Given the description of an element on the screen output the (x, y) to click on. 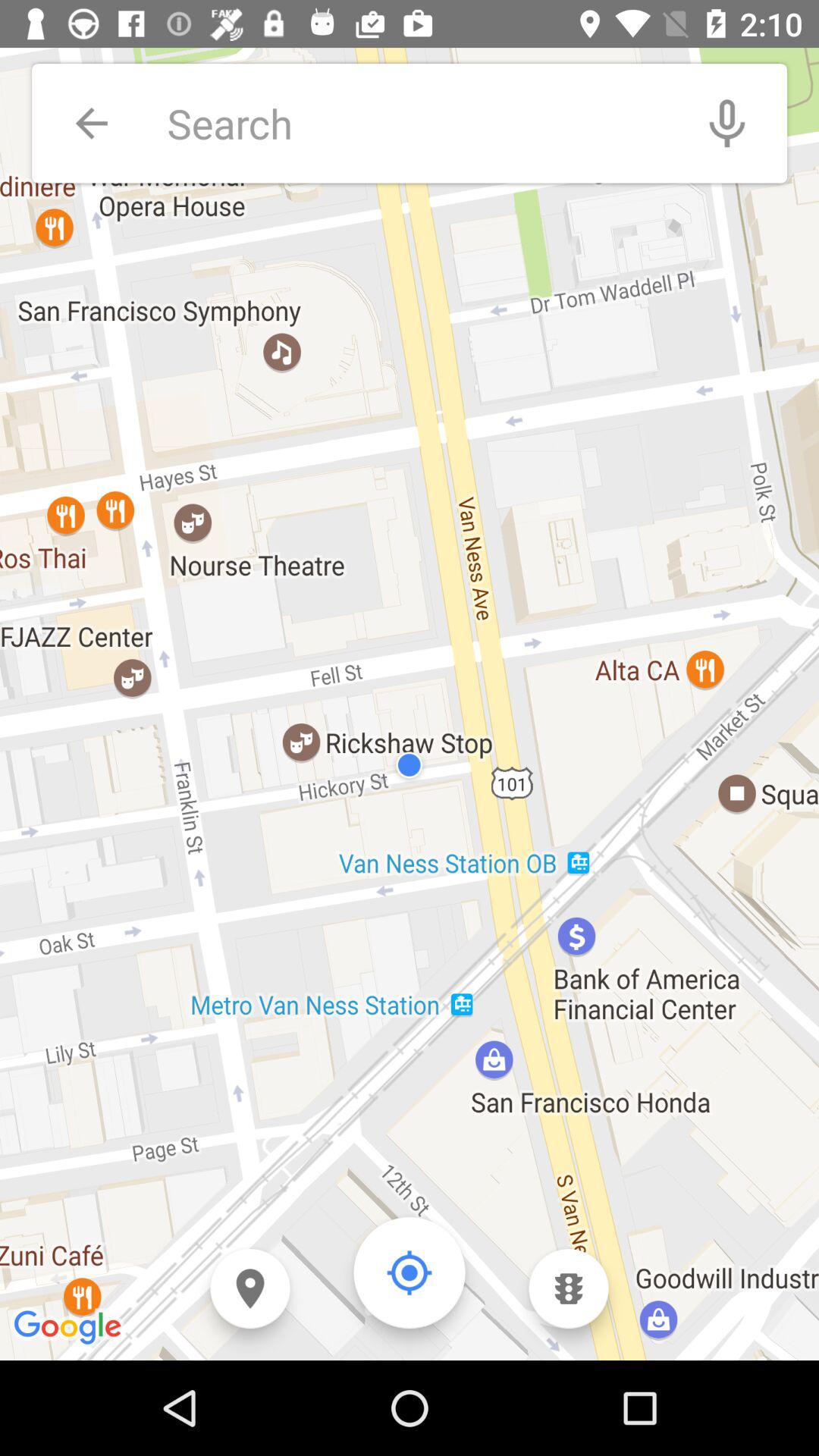
open traffic menu (568, 1288)
